Given the description of an element on the screen output the (x, y) to click on. 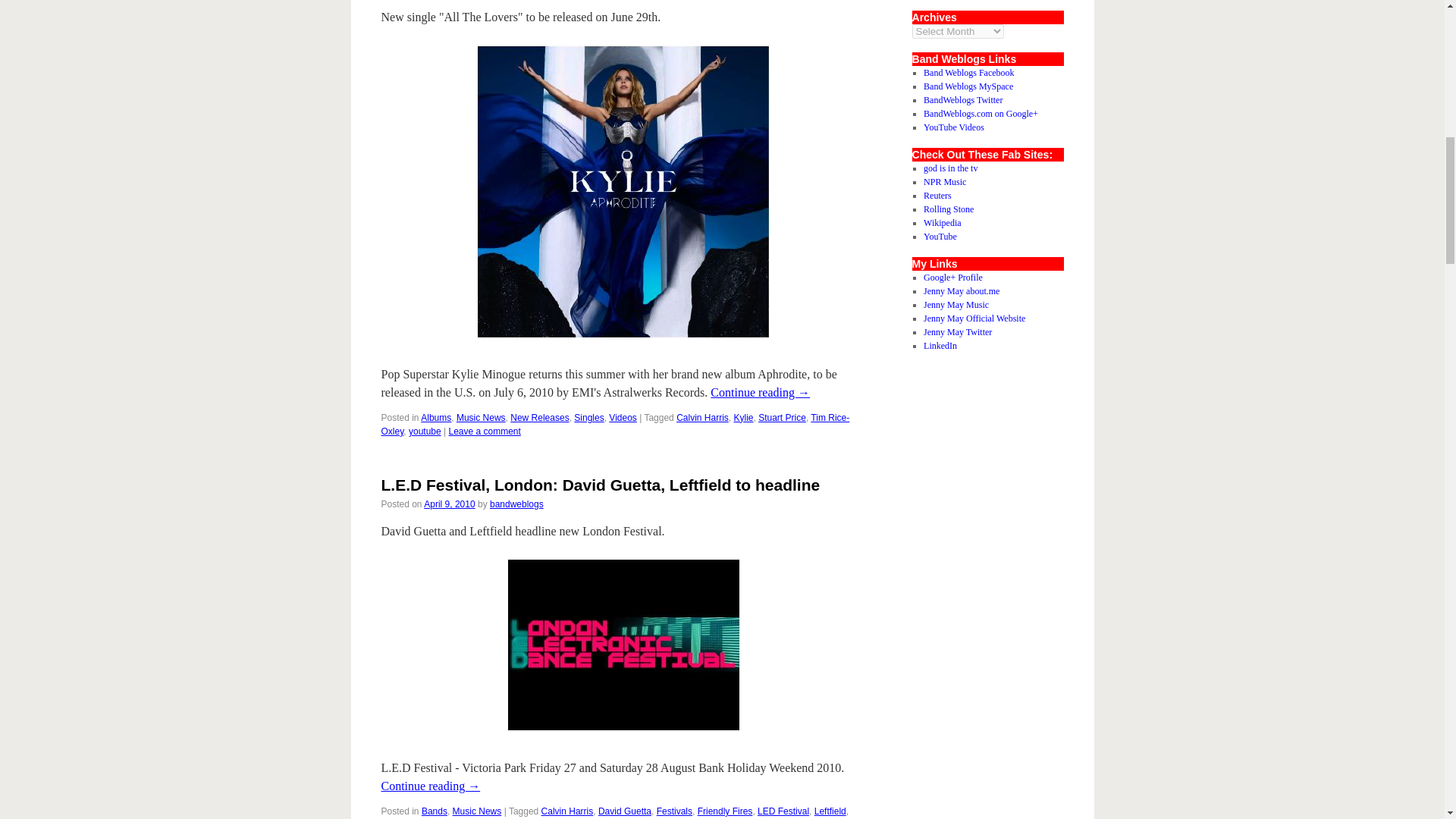
New Releases (540, 417)
View all posts in Albums (435, 417)
Videos (622, 417)
Music News (481, 417)
Kylie (743, 417)
Kylie - Aphrodite (623, 191)
Albums (435, 417)
Singles (588, 417)
Calvin Harris (703, 417)
